Given the description of an element on the screen output the (x, y) to click on. 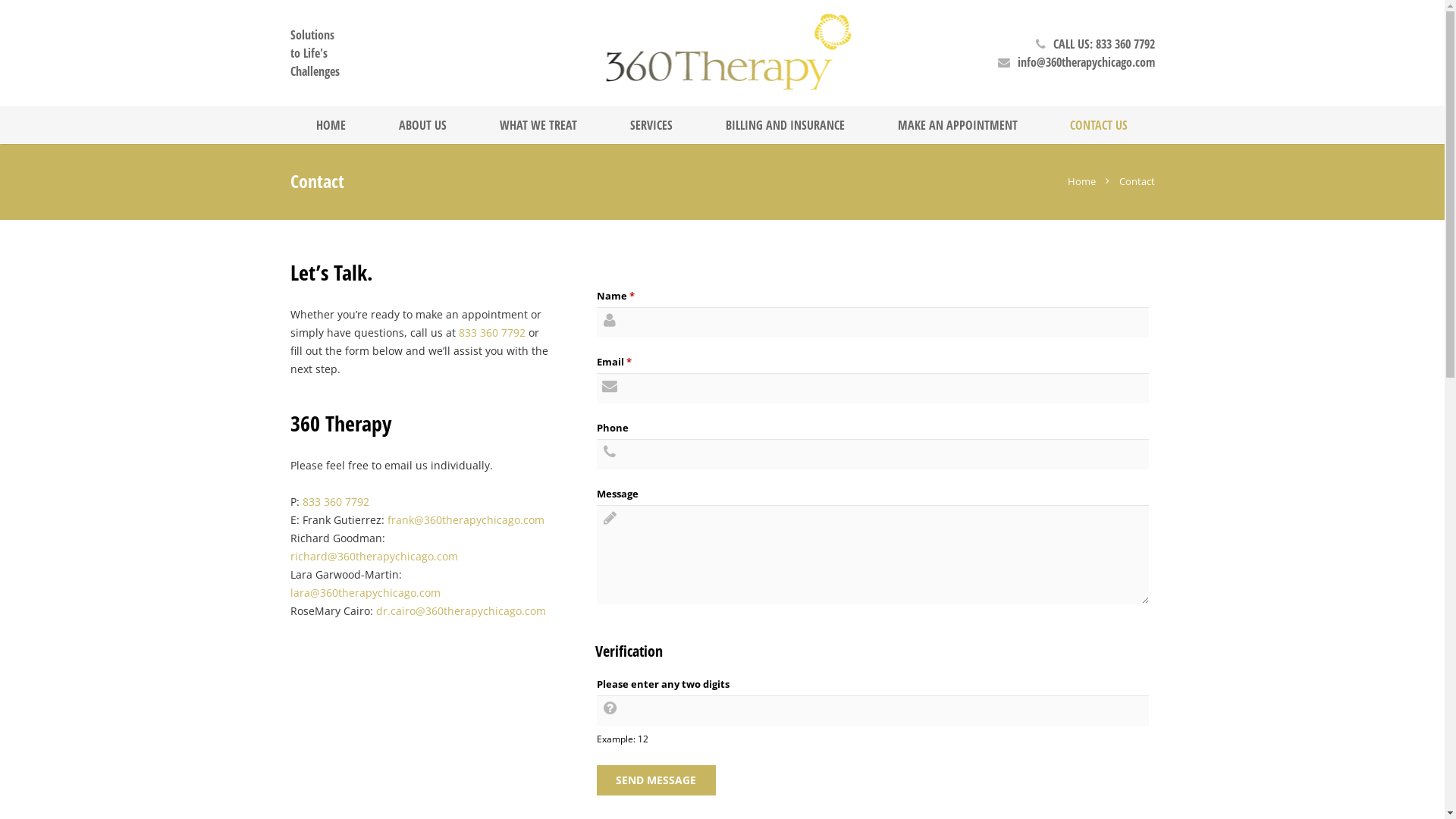
frank@360therapychicago.com Element type: text (464, 519)
SERVICES Element type: text (651, 125)
ABOUT US Element type: text (422, 125)
CALL US: 833 360 7792 Element type: text (1103, 43)
info@360therapychicago.com Element type: text (1085, 61)
HOME Element type: text (330, 125)
Home Element type: text (1081, 181)
dr.cairo@360therapychicago.com Element type: text (461, 610)
WHAT WE TREAT Element type: text (538, 125)
Send Message Element type: text (655, 780)
BILLING AND INSURANCE Element type: text (784, 125)
833 360 7792 Element type: text (491, 332)
MAKE AN APPOINTMENT Element type: text (957, 125)
833 360 7792 Element type: text (334, 501)
CONTACT US Element type: text (1098, 125)
lara@360therapychicago.com Element type: text (364, 592)
richard@360therapychicago.com Element type: text (373, 556)
